Given the description of an element on the screen output the (x, y) to click on. 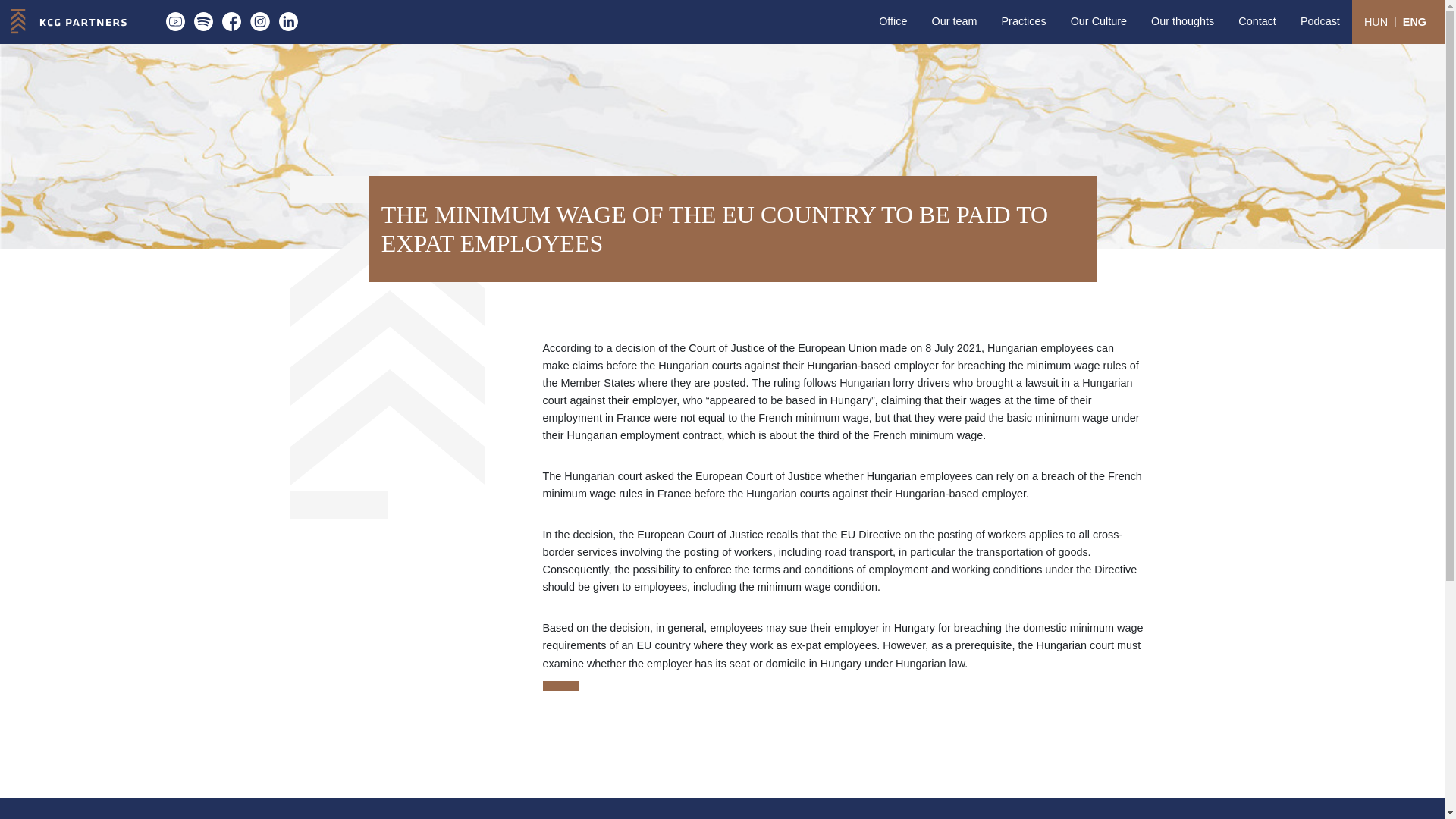
HUN (1375, 21)
Our Culture (1098, 20)
ENG (1414, 21)
Contact (1256, 20)
Our thoughts (1181, 20)
Our team (953, 20)
Office (892, 20)
Practices (1023, 20)
Podcast (1320, 20)
